Given the description of an element on the screen output the (x, y) to click on. 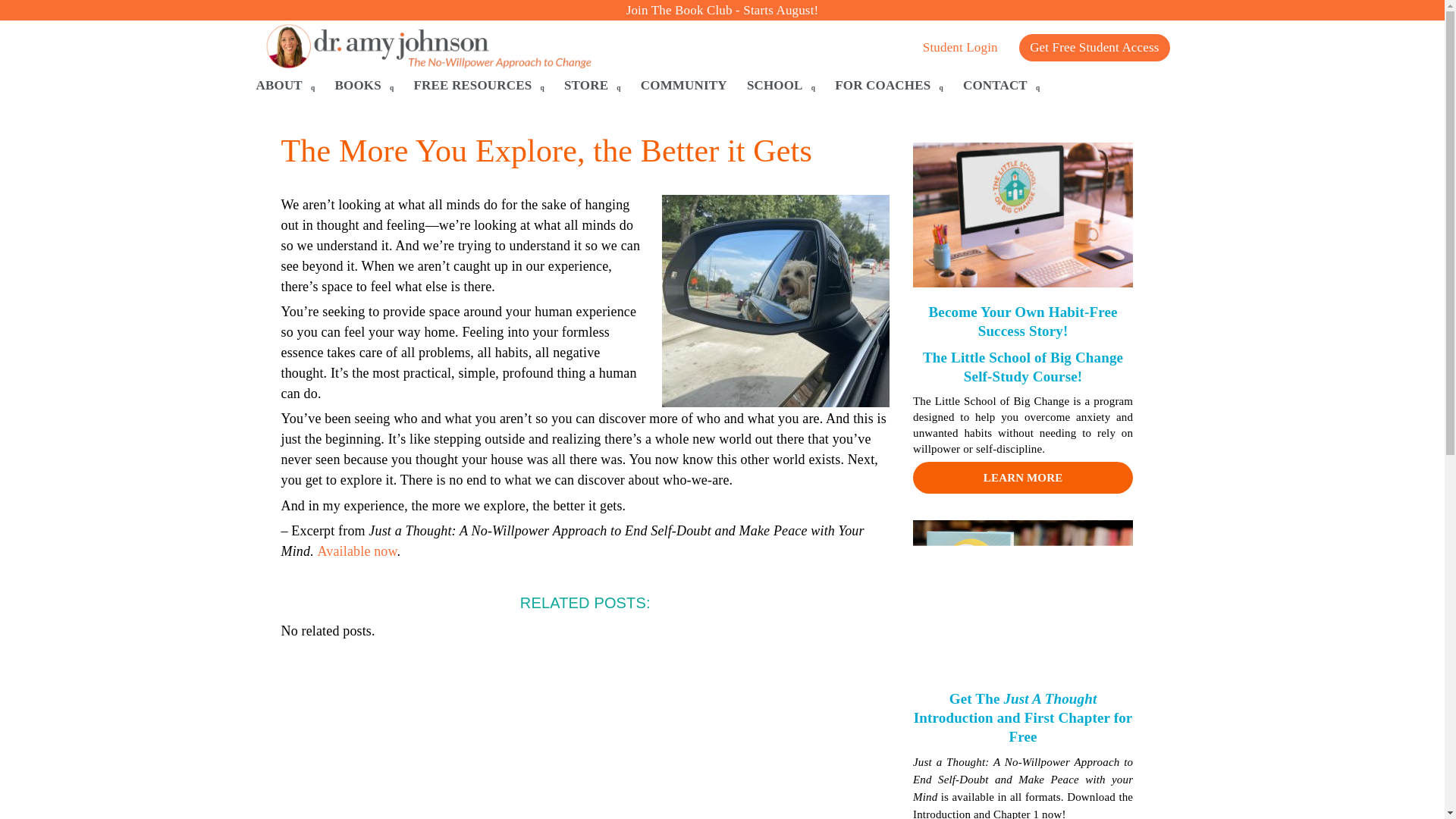
SCHOOL (780, 85)
Join The Book Club - Starts August! (722, 10)
FOR COACHES (888, 85)
COMMUNITY (684, 85)
BOOKS (363, 85)
Get Free Student Access (1094, 47)
FREE RESOURCES (478, 85)
ABOUT (286, 85)
Student Login (960, 57)
STORE (592, 85)
